Given the description of an element on the screen output the (x, y) to click on. 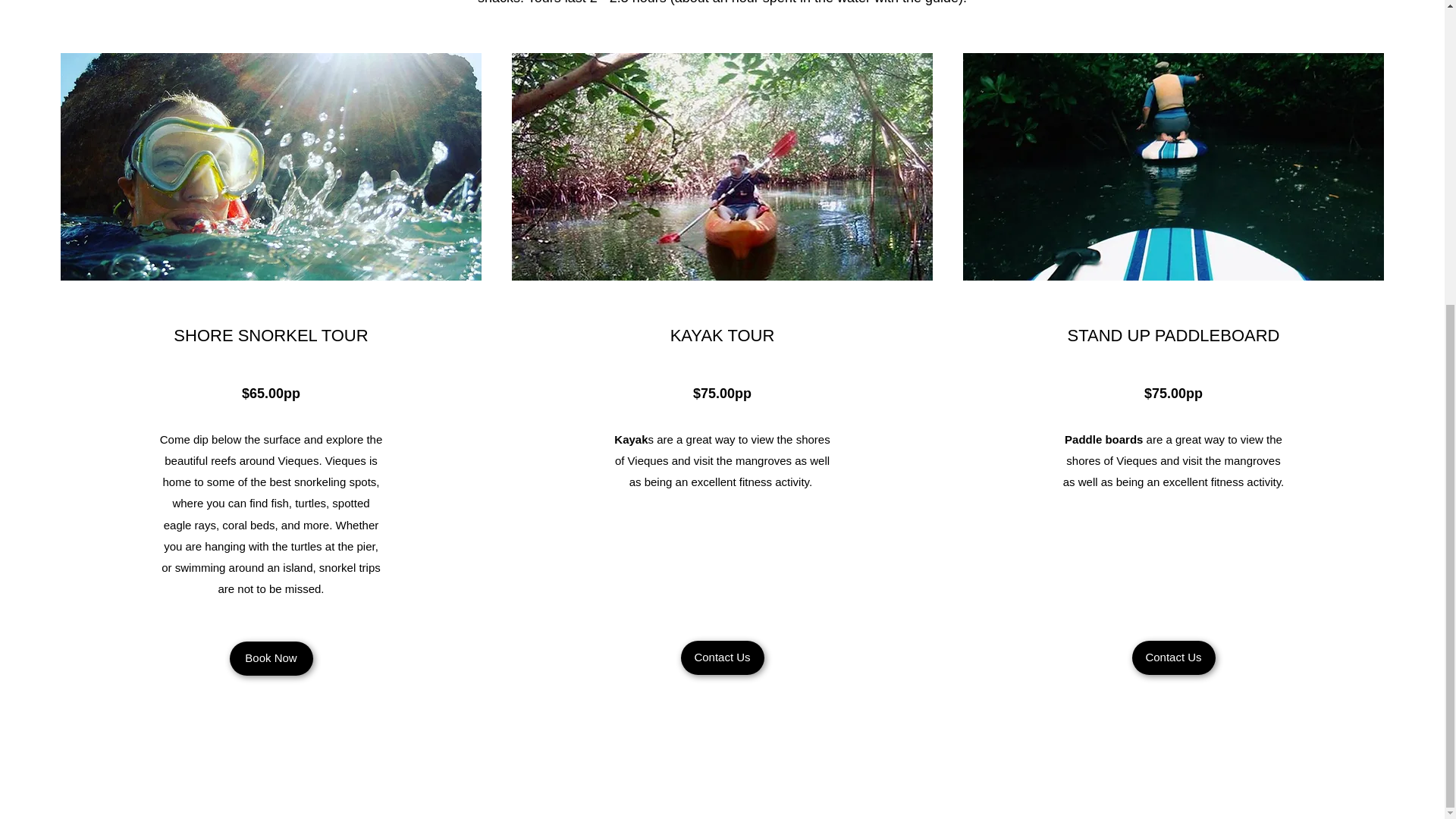
Contact Us (722, 657)
Book Now (270, 658)
Contact Us (1172, 657)
